Given the description of an element on the screen output the (x, y) to click on. 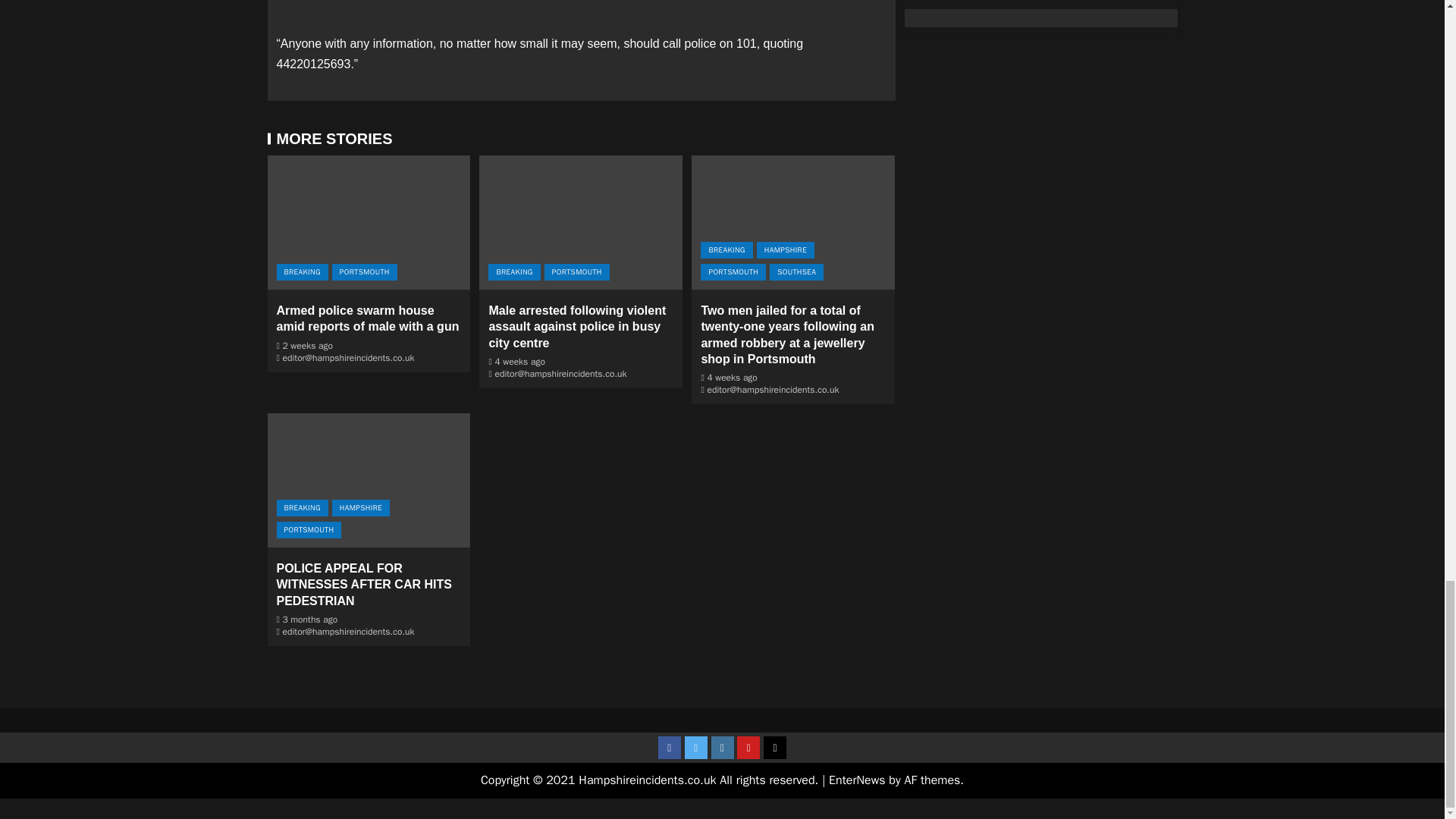
BREAKING (301, 271)
PORTSMOUTH (577, 271)
BREAKING (513, 271)
Armed police swarm house amid reports of male with a gun (367, 317)
PORTSMOUTH (364, 271)
